Given the description of an element on the screen output the (x, y) to click on. 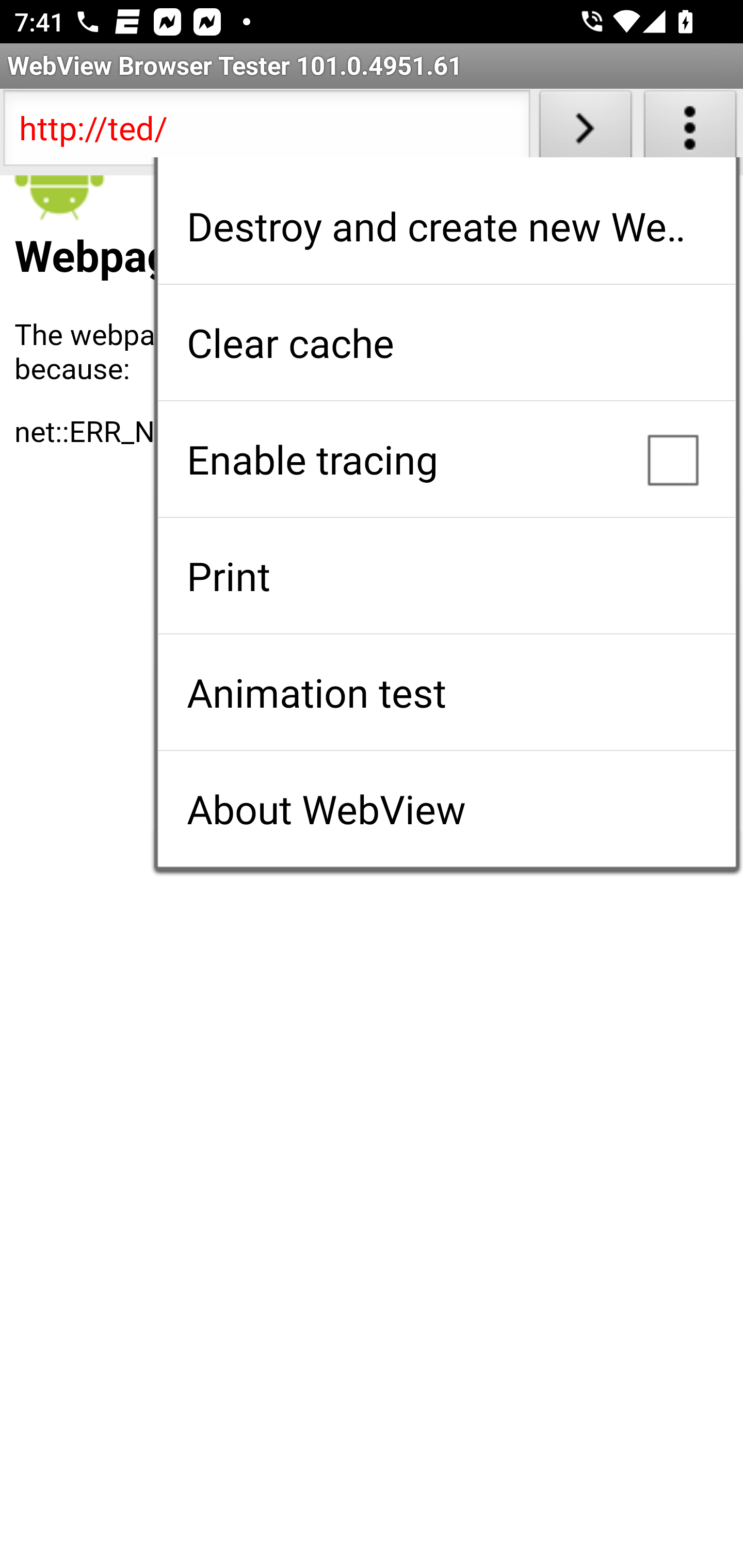
Destroy and create new WebView (446, 225)
Clear cache (446, 342)
Enable tracing (446, 459)
Print (446, 575)
Animation test (446, 692)
About WebView (446, 809)
